Given the description of an element on the screen output the (x, y) to click on. 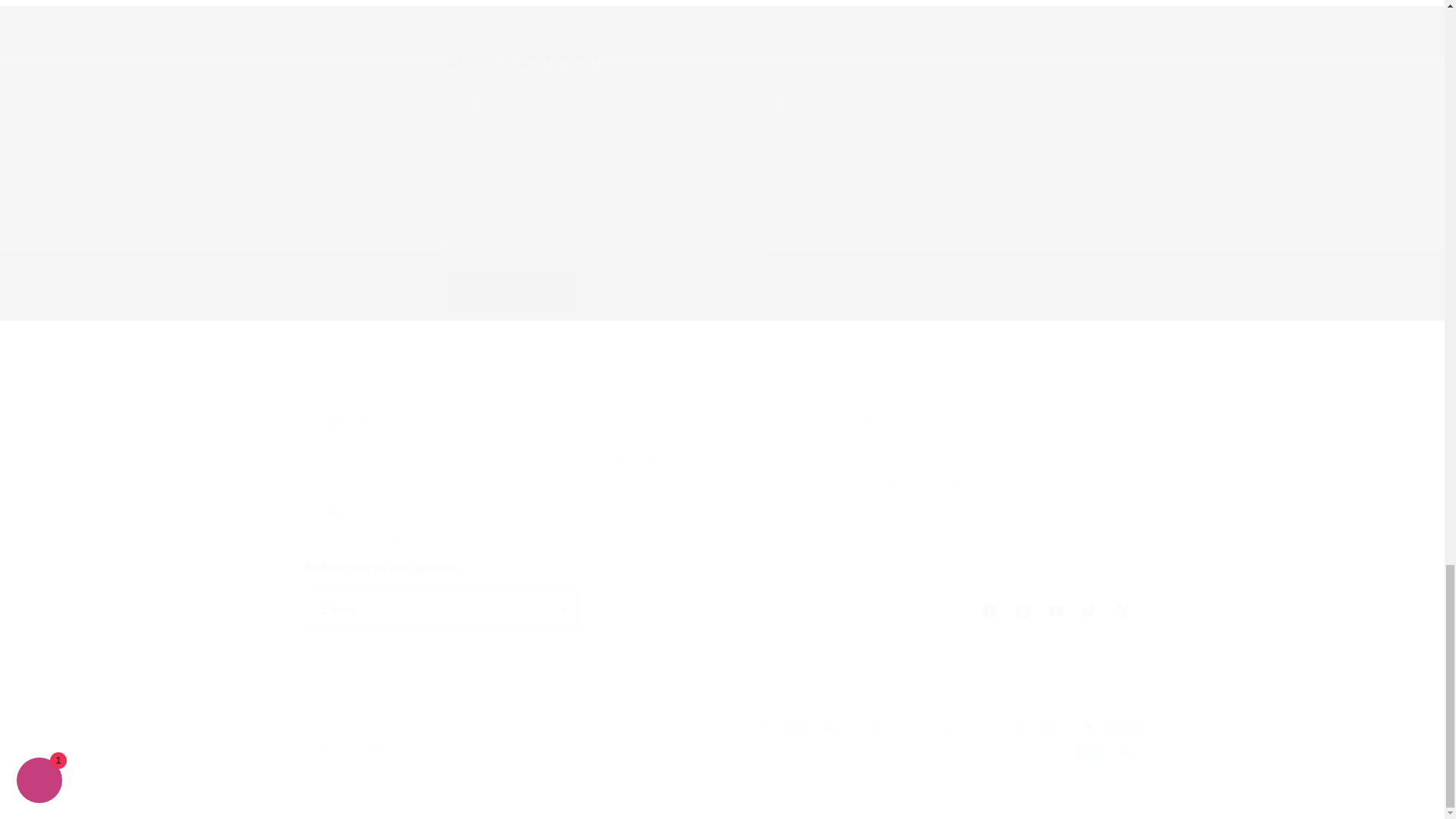
Post comment (510, 290)
